Given the description of an element on the screen output the (x, y) to click on. 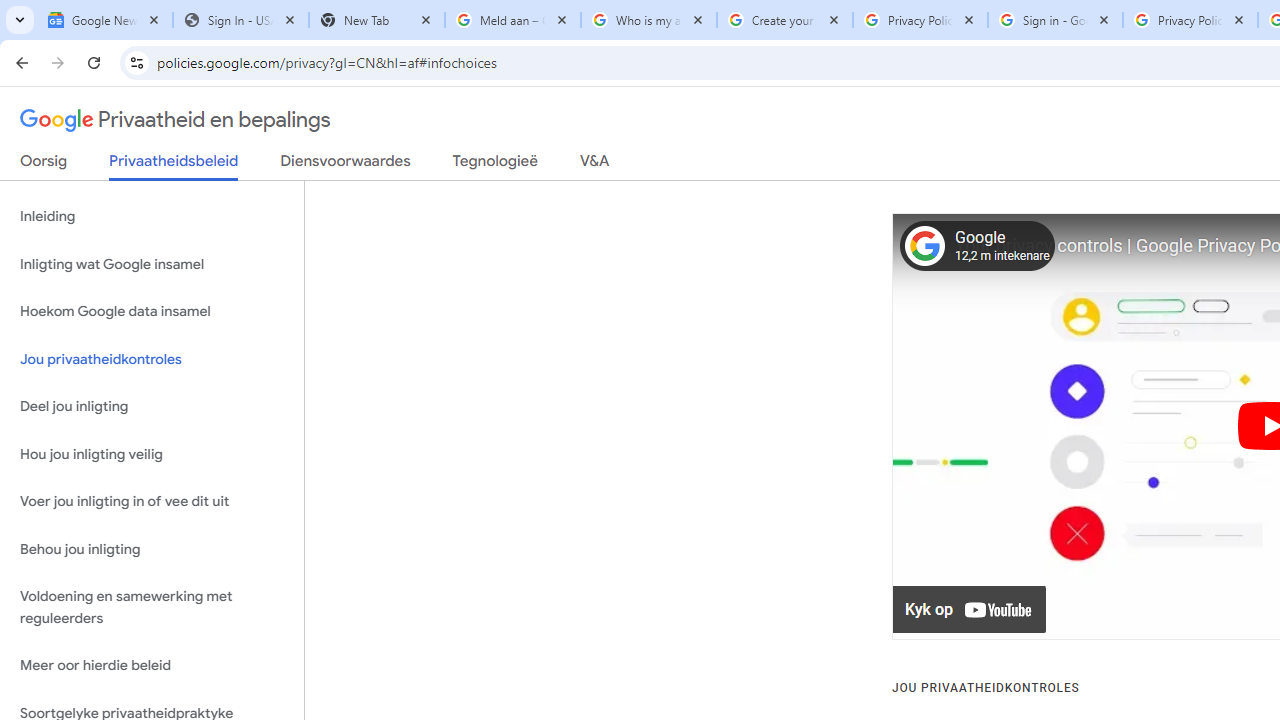
Sign In - USA TODAY (240, 20)
Privaatheidsbeleid (173, 166)
New Tab (376, 20)
Oorsig (43, 165)
Hou jou inligting veilig (152, 453)
Create your Google Account (784, 20)
Sign in - Google Accounts (1055, 20)
Who is my administrator? - Google Account Help (648, 20)
Google News (104, 20)
Hoekom Google data insamel (152, 312)
Inligting wat Google insamel (152, 263)
Behou jou inligting (152, 548)
